Given the description of an element on the screen output the (x, y) to click on. 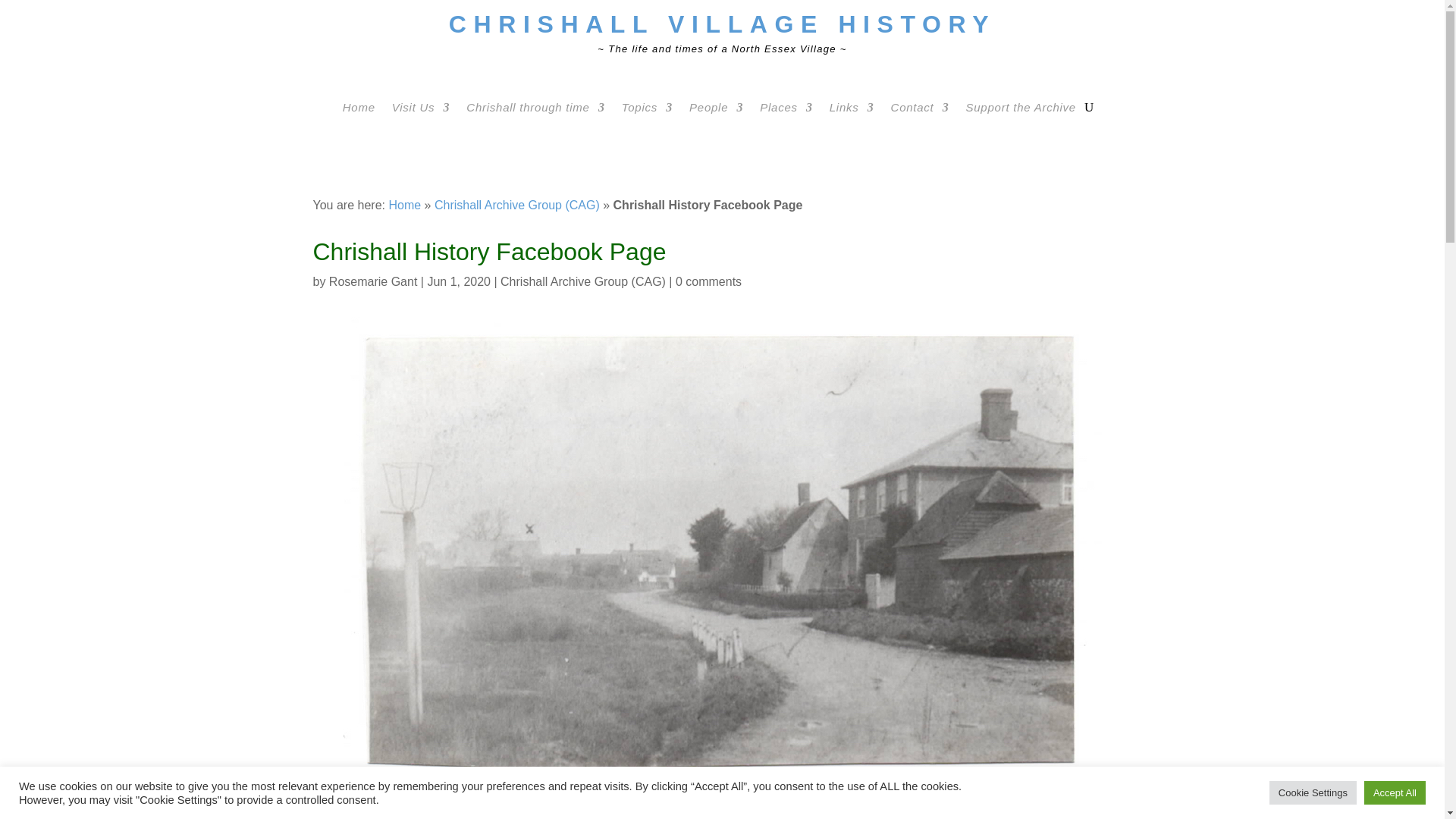
Chrishall through time (534, 110)
Topics (646, 110)
Home (358, 110)
People (715, 110)
Posts by Rosemarie Gant (373, 281)
Visit Us (420, 110)
